Given the description of an element on the screen output the (x, y) to click on. 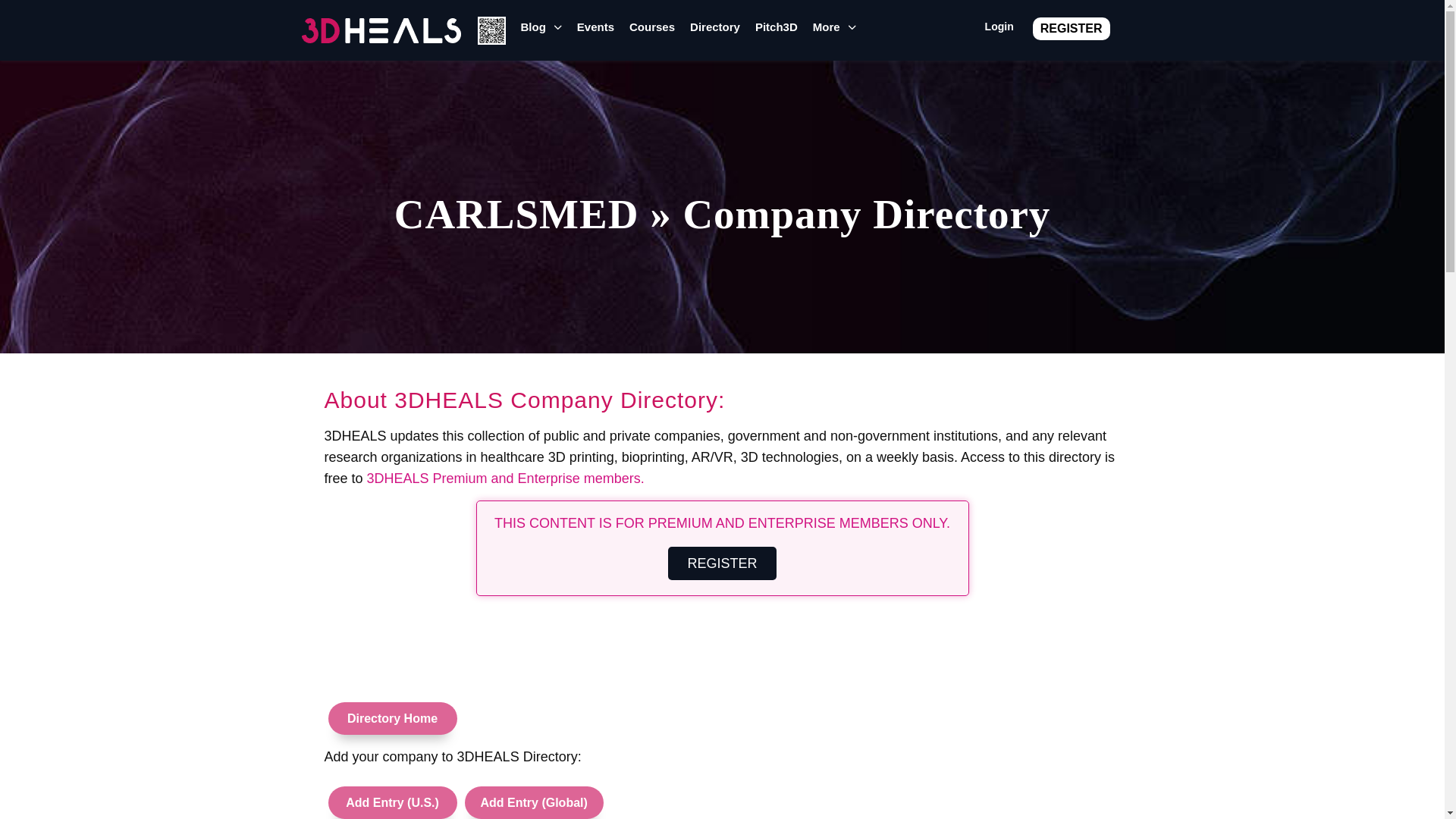
Blog (539, 31)
Login (999, 30)
Courses (651, 31)
REGISTER (1070, 27)
More (834, 31)
Pitch3D (776, 31)
Events (595, 31)
Directory (714, 31)
